Given the description of an element on the screen output the (x, y) to click on. 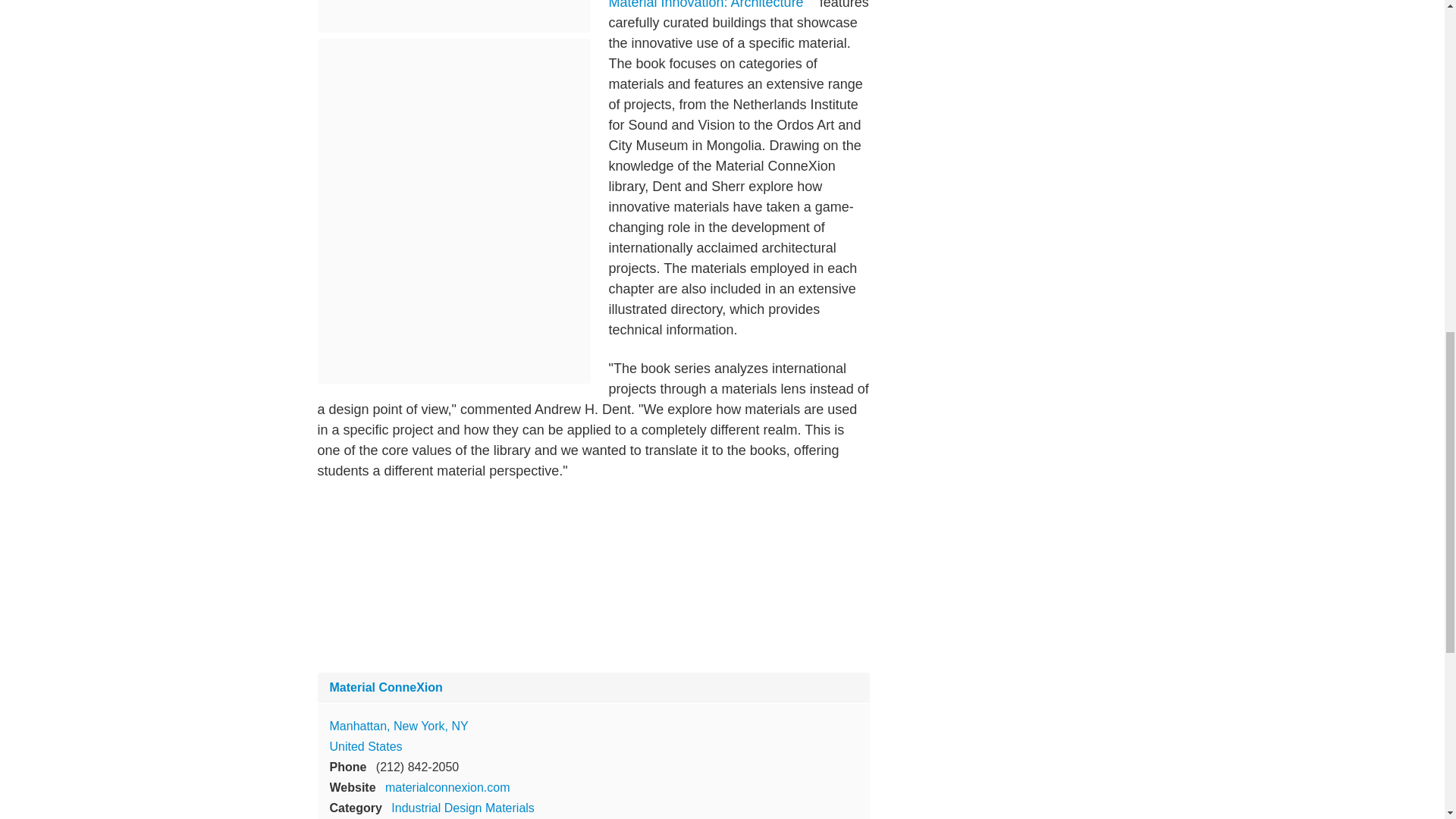
Industrial Design Materials (462, 807)
Manhattan, New York, NY (398, 725)
Material Innovation: Architecture (711, 4)
United States (365, 746)
materialconnexion.com (448, 787)
View on Map (398, 725)
Material ConneXion (385, 686)
